Given the description of an element on the screen output the (x, y) to click on. 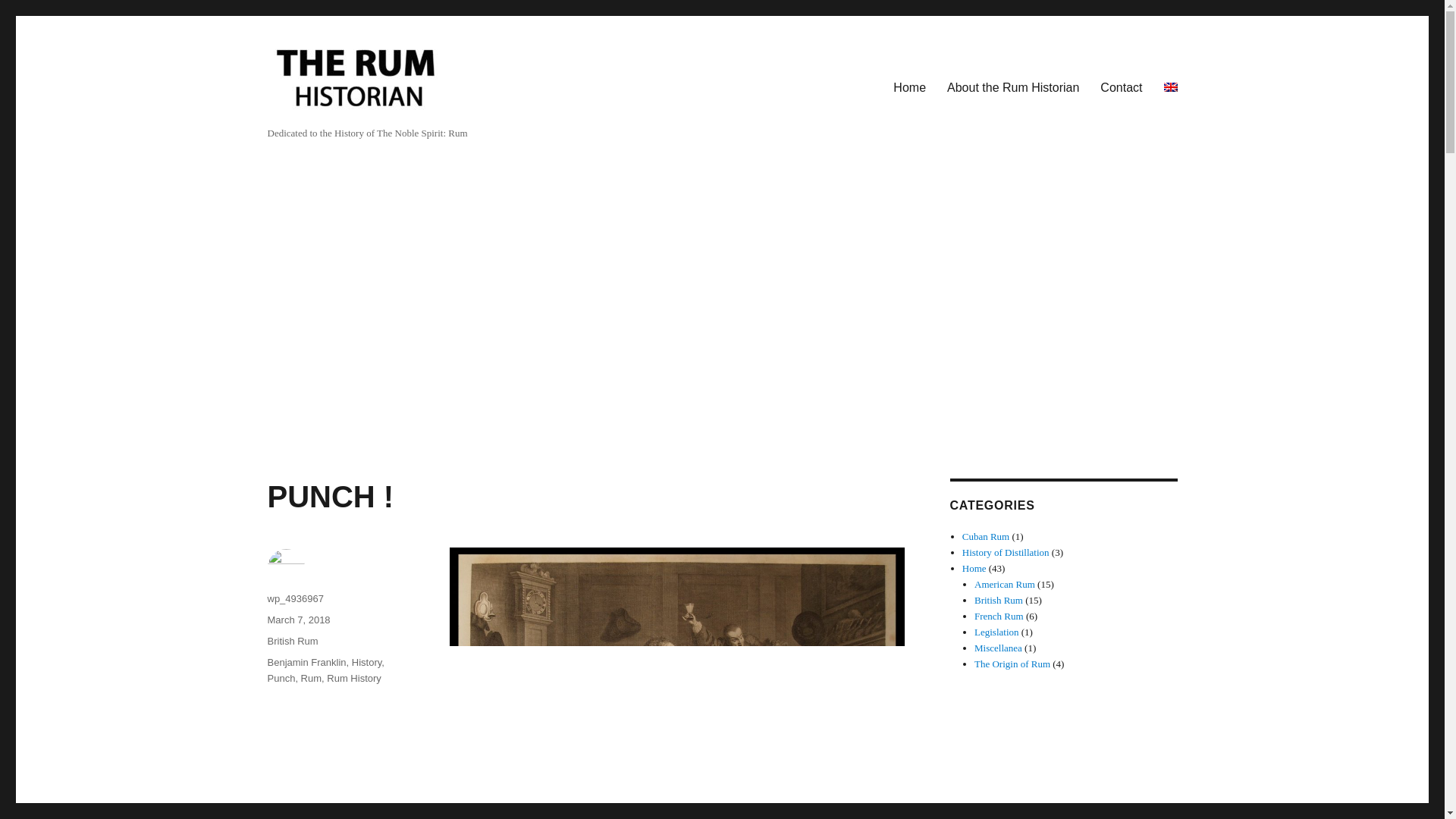
History (366, 662)
Rum (311, 677)
History of Distillation (1005, 552)
Home (909, 88)
Contact (1121, 88)
About the Rum Historian (1012, 88)
March 7, 2018 (298, 619)
Home (974, 568)
Punch (280, 677)
Rum History (353, 677)
British Rum (291, 641)
Cuban Rum (985, 536)
Benjamin Franklin (306, 662)
